Given the description of an element on the screen output the (x, y) to click on. 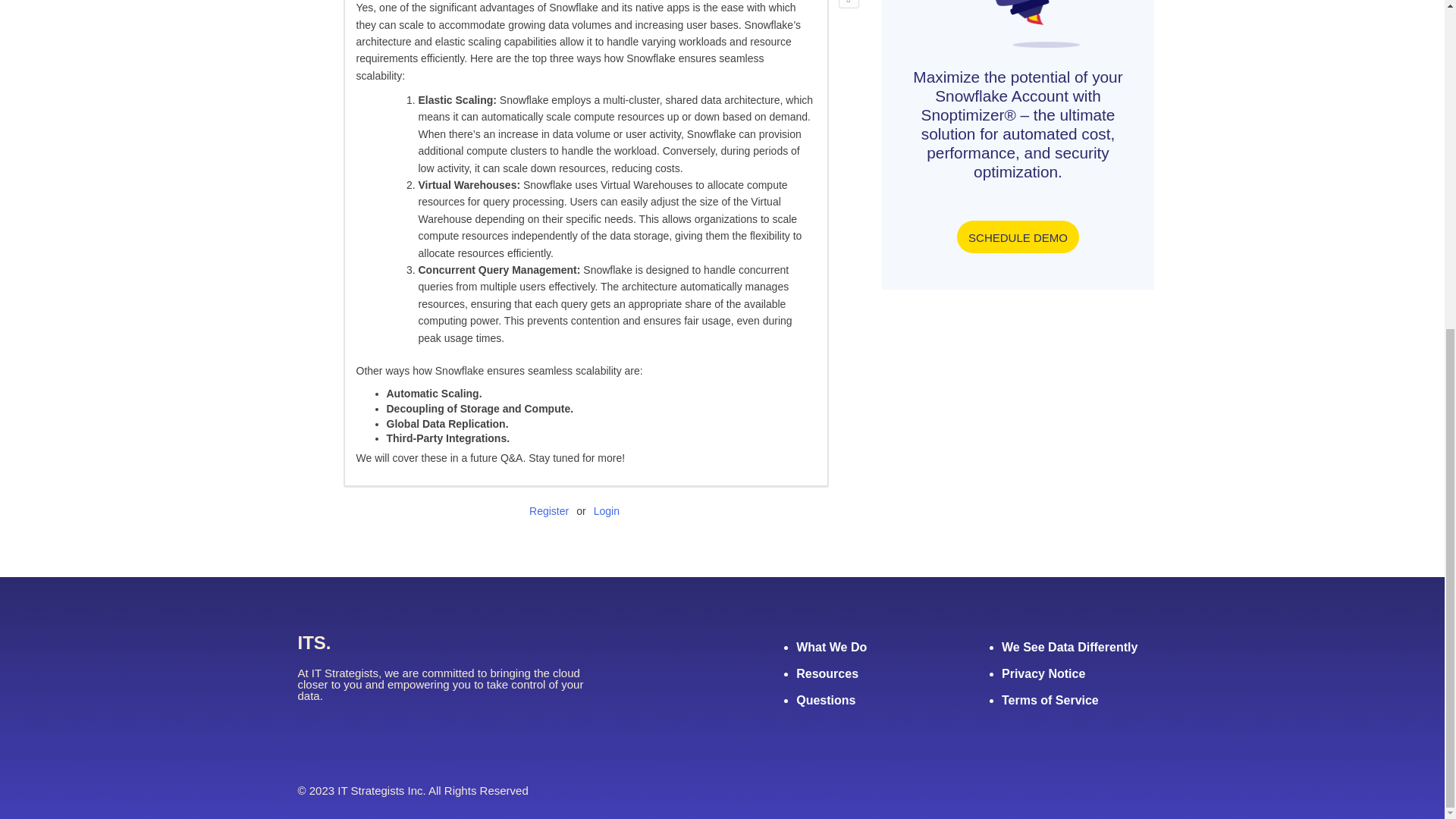
Login (607, 510)
Register (549, 510)
Down vote this answer (848, 4)
SCHEDULE DEMO (1017, 236)
